Given the description of an element on the screen output the (x, y) to click on. 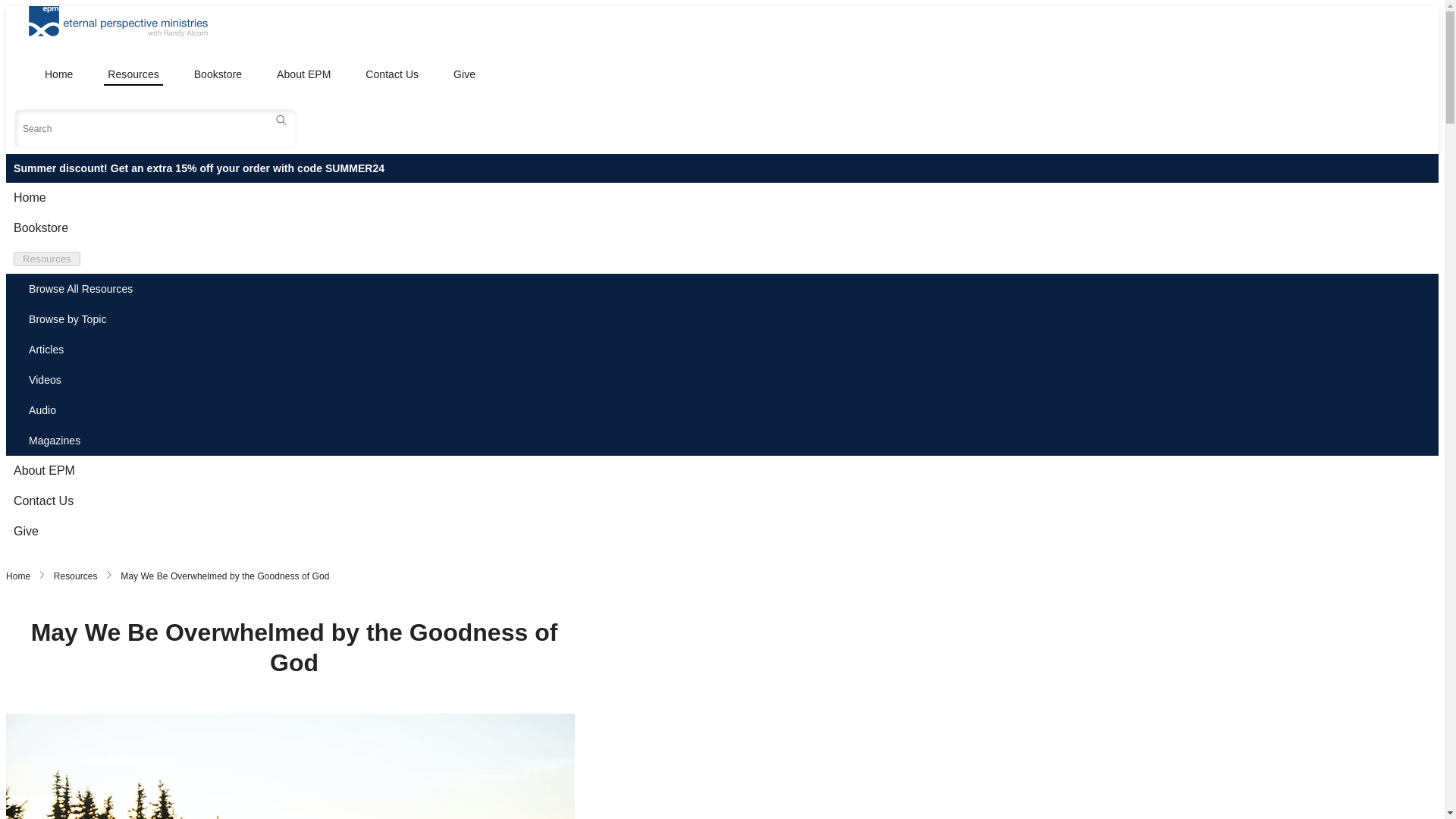
Bookstore (218, 74)
Resources (132, 74)
About EPM (303, 74)
May We Be Overwhelmed by the Goodness of God (224, 575)
Home (17, 575)
Contact Us (391, 74)
Home (58, 74)
Give (464, 74)
Resources (75, 575)
Resources (46, 258)
